Given the description of an element on the screen output the (x, y) to click on. 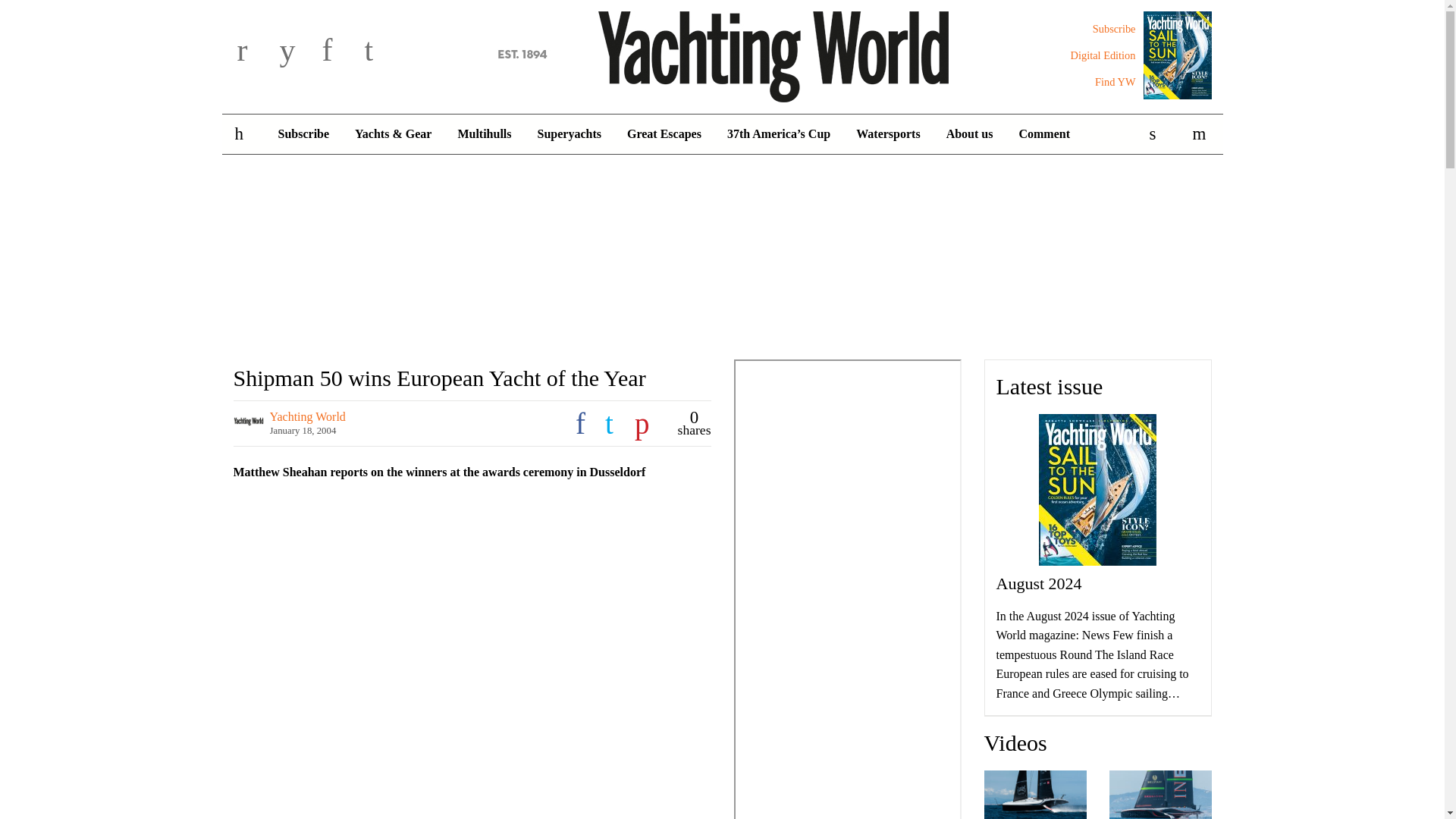
Subscribe (1114, 28)
Find YW (1114, 81)
y (297, 52)
Yachting World (721, 53)
Superyachts (569, 133)
r (254, 52)
Great Escapes (664, 133)
Yachting World's Profile (307, 416)
Multihulls (484, 133)
Subscribe (1114, 28)
